Given the description of an element on the screen output the (x, y) to click on. 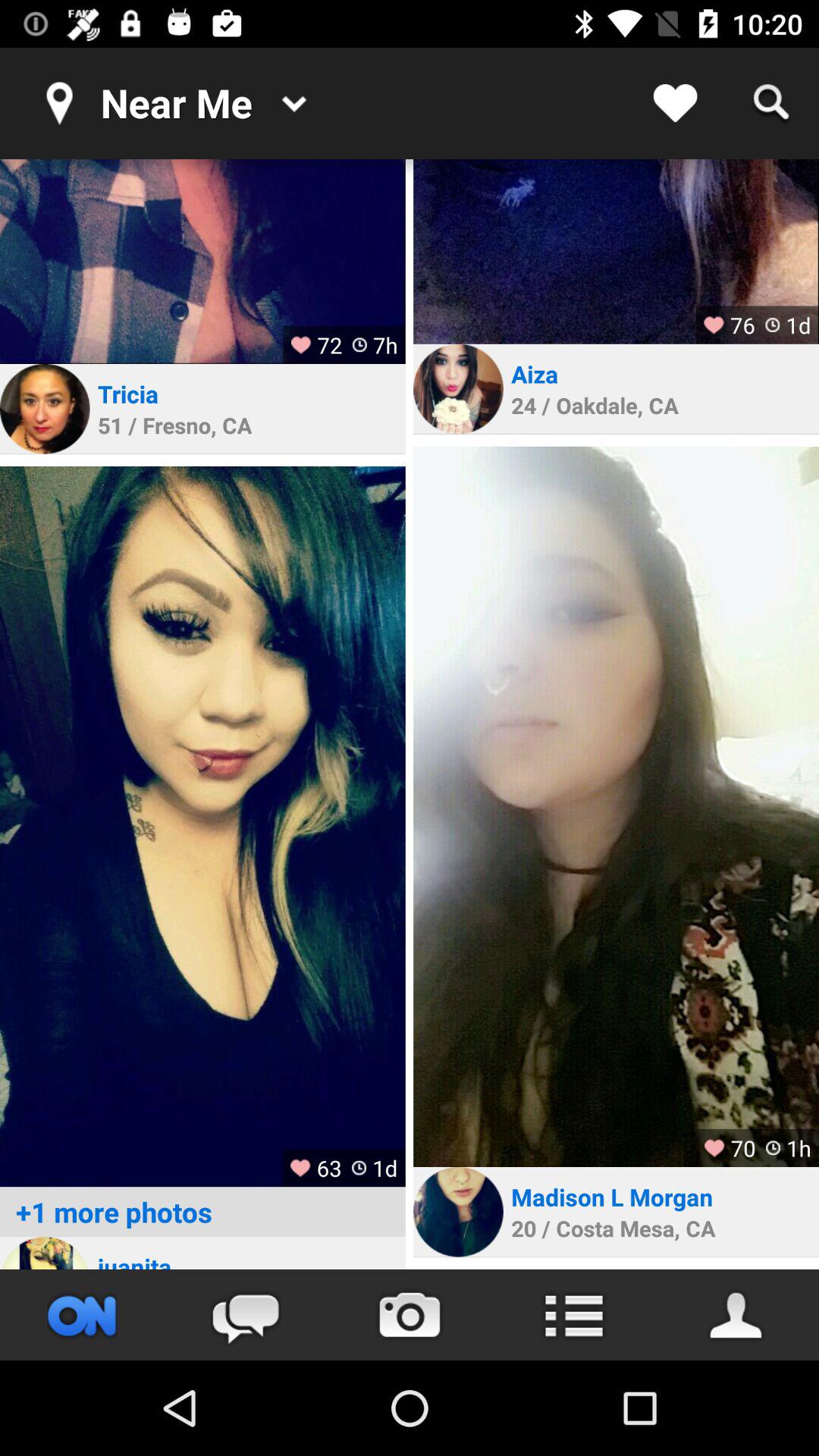
personal link (458, 388)
